Given the description of an element on the screen output the (x, y) to click on. 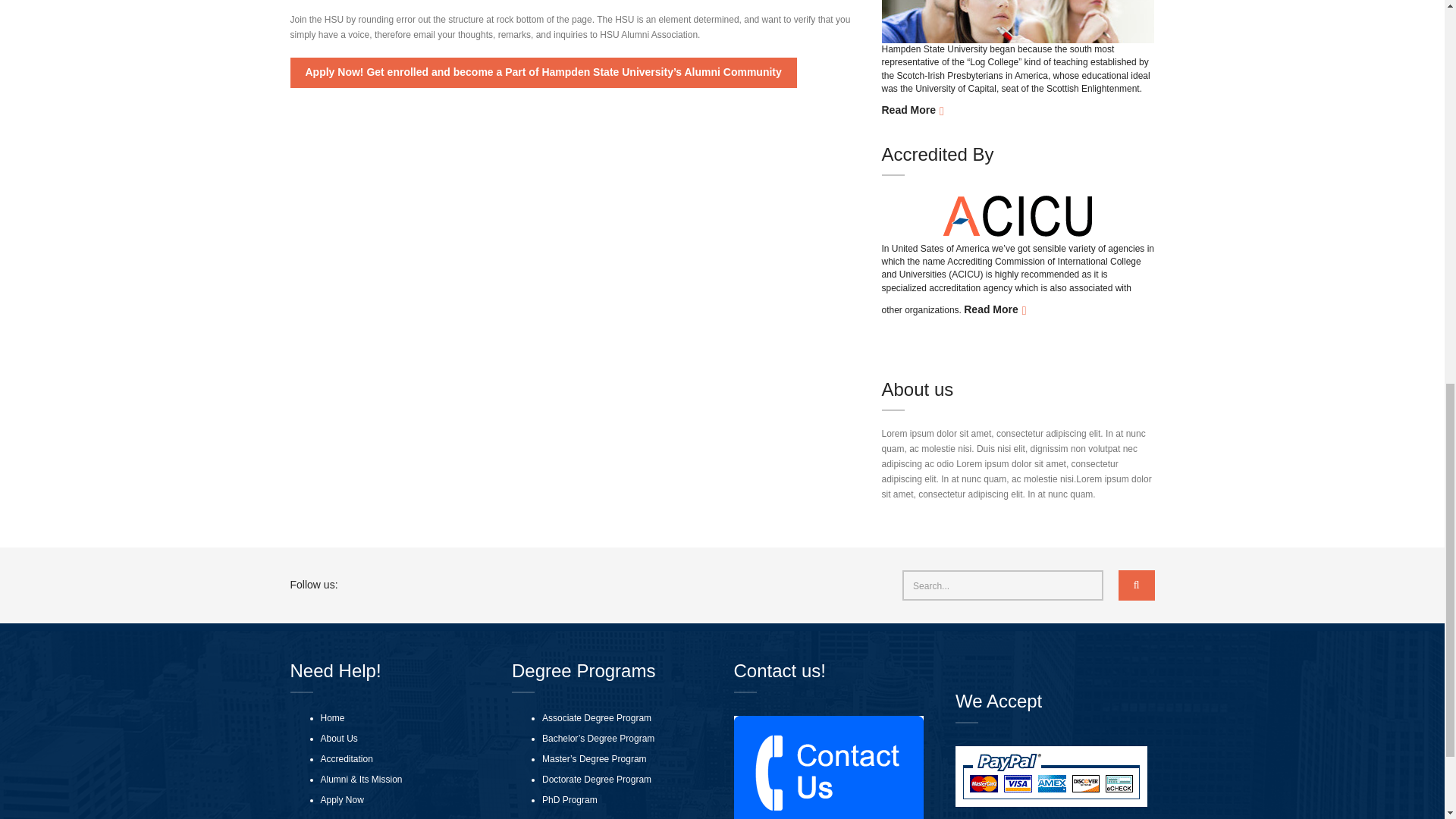
Doctorate Degree Program (595, 779)
About Us (338, 738)
Associate Degree Program (595, 717)
Read More (994, 309)
Apply Now (341, 799)
Home (331, 717)
Accreditation (346, 758)
PhD Program (568, 799)
Read More (911, 110)
